Given the description of an element on the screen output the (x, y) to click on. 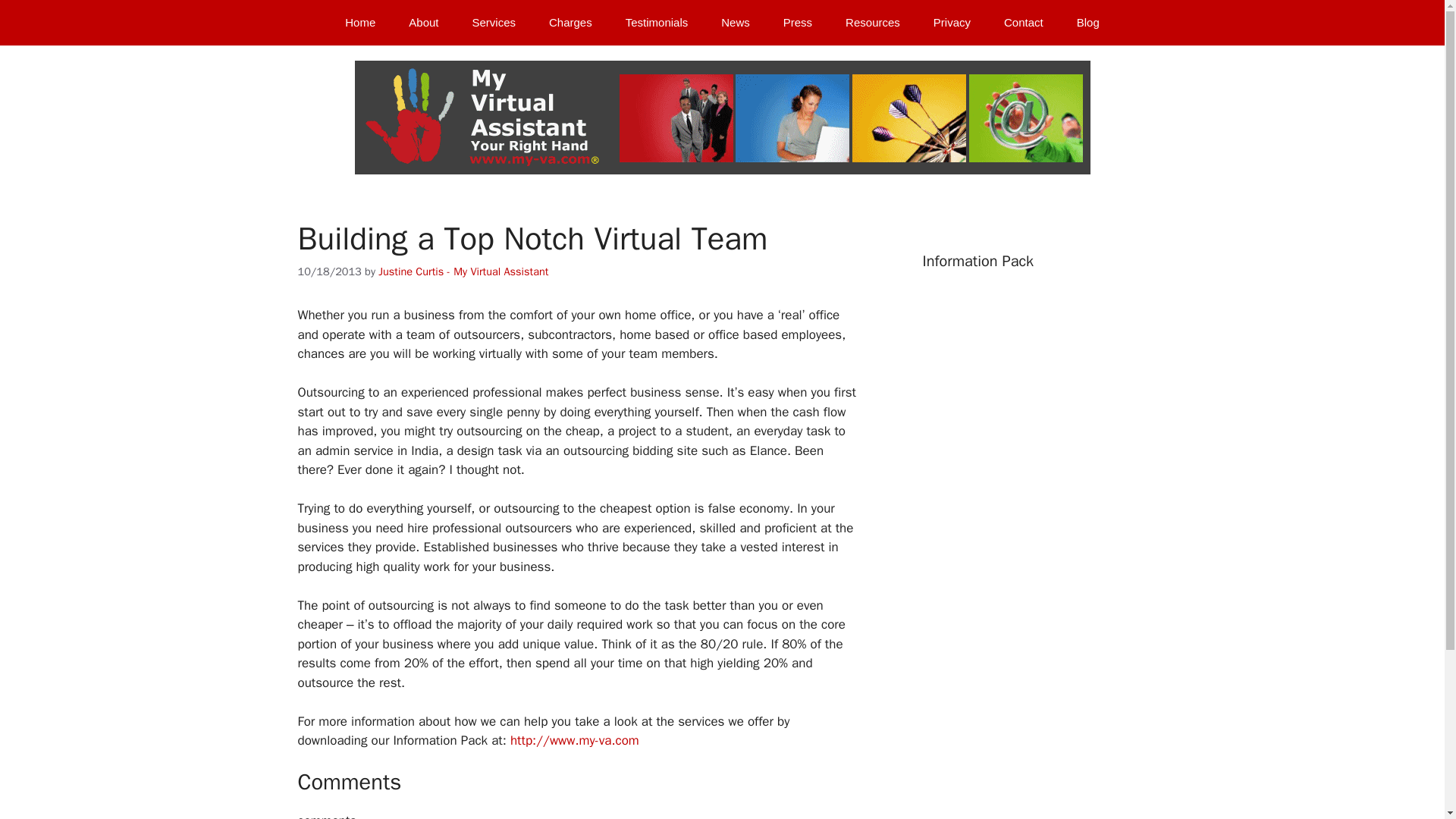
View all posts by Justine Curtis - My Virtual Assistant (463, 271)
Resources (872, 22)
My Virtual Assistant Recommended Resources (872, 22)
About (422, 22)
Contact My Virtual Assistant (1023, 22)
Testimonials For My Virtual Assistant (656, 22)
Privacy (951, 22)
Blog (1088, 22)
My Virtual Assistant Blog (1088, 22)
About My Virtual Assistant (422, 22)
Justine Curtis - My Virtual Assistant (463, 271)
Contact (1023, 22)
My Virtual Assistant Charges (570, 22)
Press Contact For My Virtual Assistant (797, 22)
Charges (570, 22)
